Given the description of an element on the screen output the (x, y) to click on. 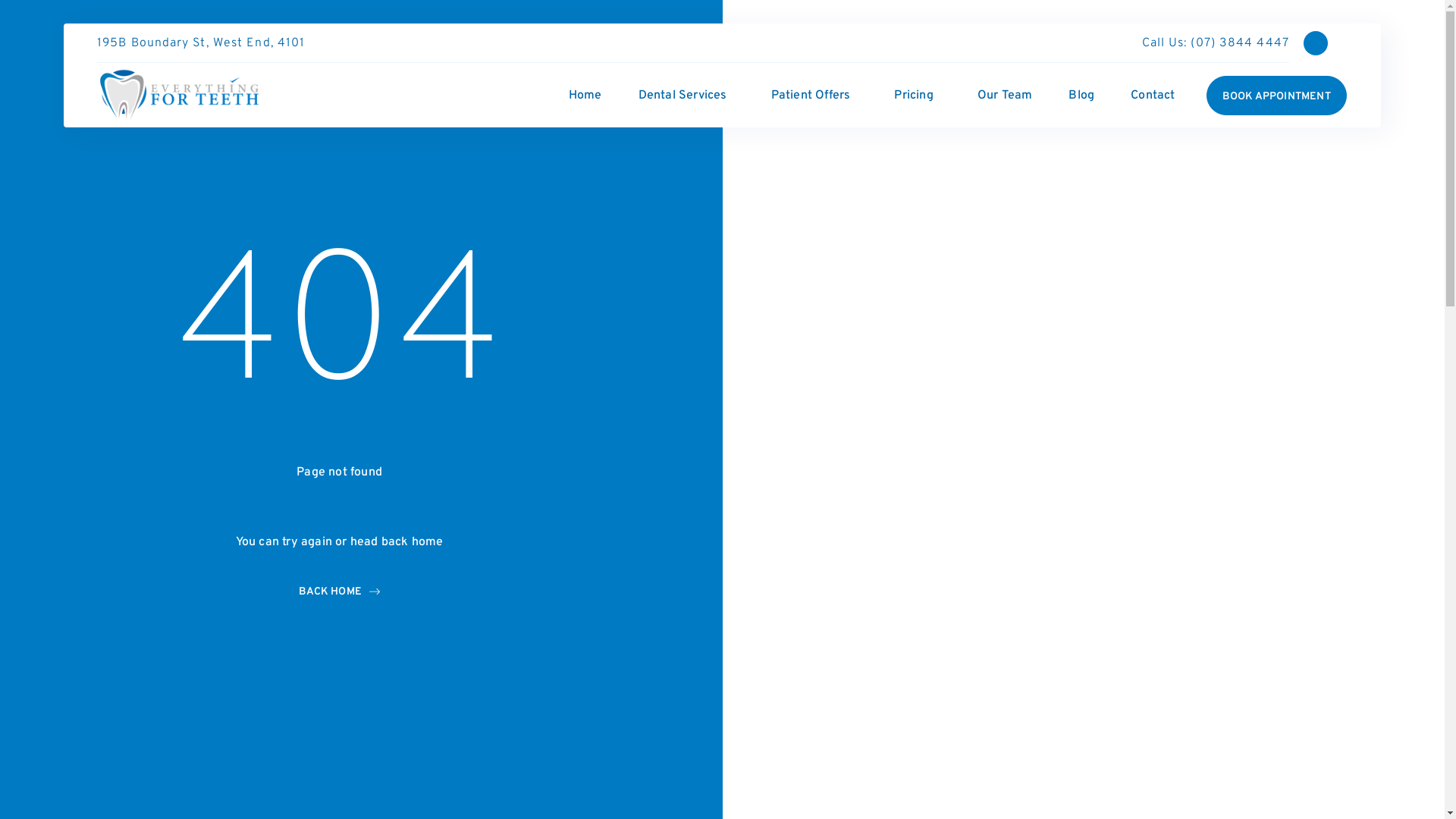
BOOK APPOINTMENT Element type: text (1276, 95)
Blog Element type: text (1081, 95)
Patient Offers Element type: text (814, 95)
Dental Services Element type: text (686, 95)
Pricing Element type: text (917, 95)
Home Element type: text (585, 95)
ARROW-ICON-SIZE3
BACK HOME Element type: text (339, 591)
Call Us: (07) 3844 4447 Element type: text (1206, 43)
Contact Element type: text (1152, 95)
Our Team Element type: text (1004, 95)
